Given the description of an element on the screen output the (x, y) to click on. 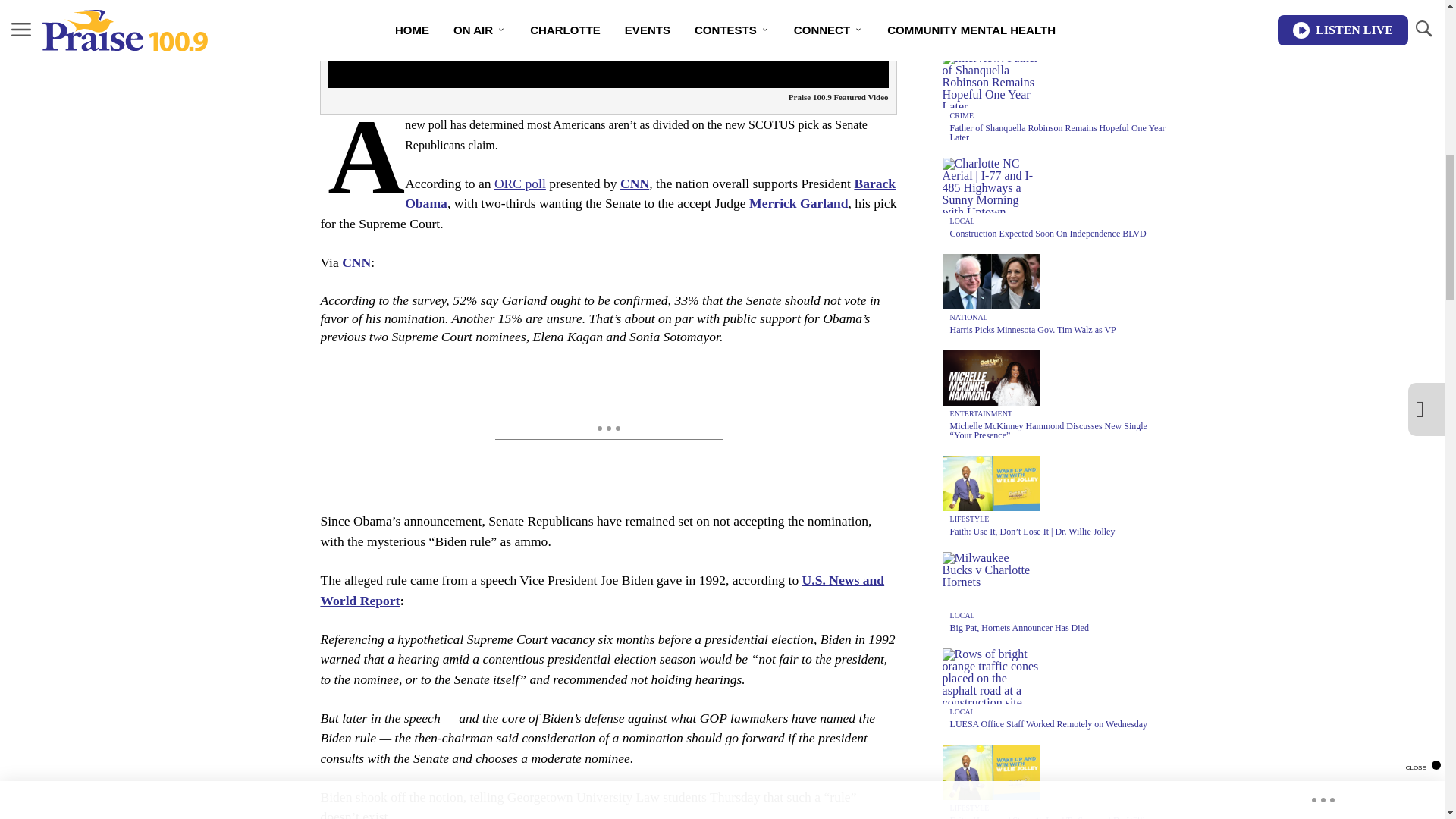
U.S. News and World Report (601, 589)
Merrick Garland (798, 202)
CNN (356, 262)
Barack Obama (649, 193)
ORC poll (520, 183)
CNN (634, 183)
